Given the description of an element on the screen output the (x, y) to click on. 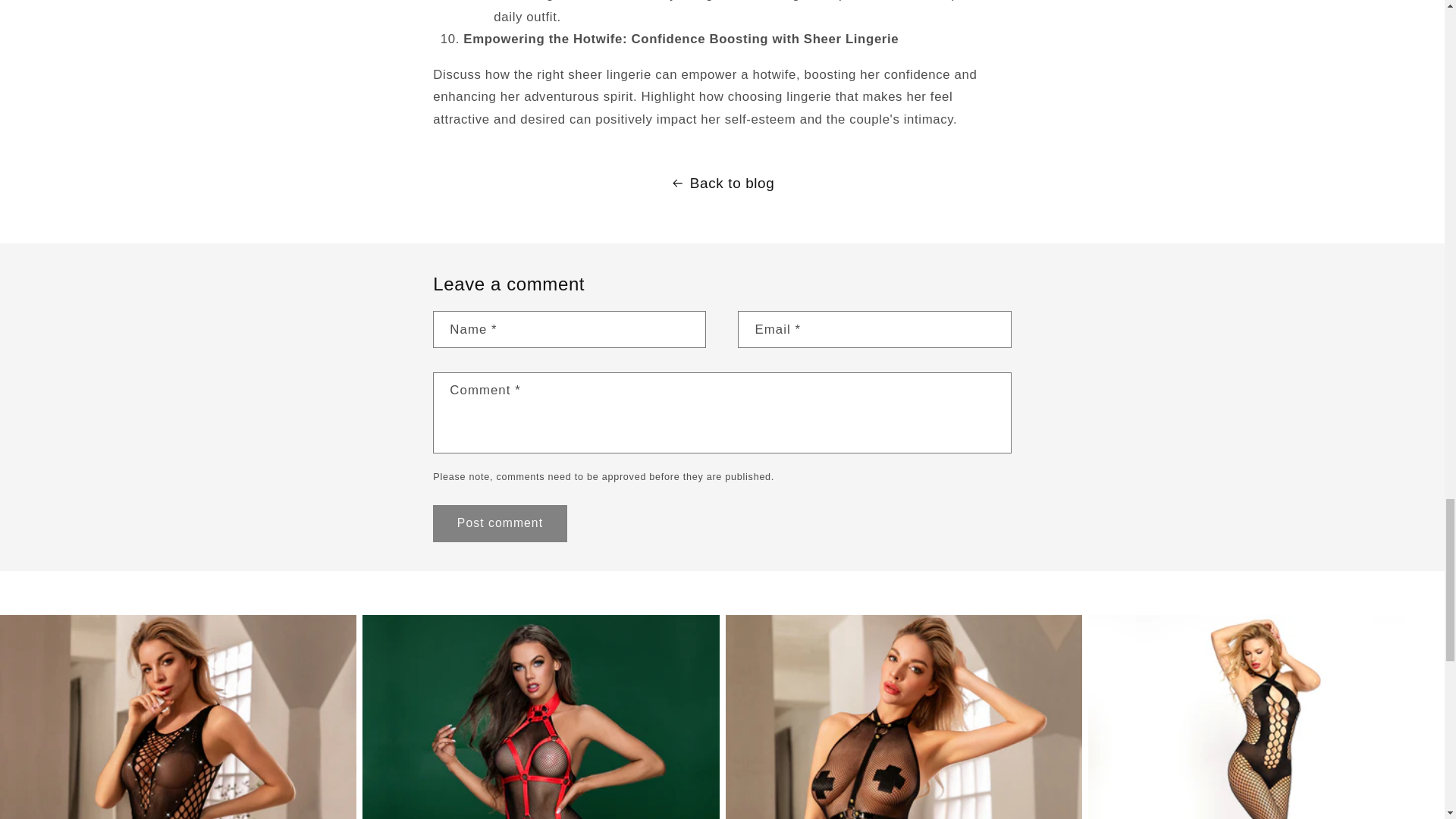
Post comment (499, 523)
